Given the description of an element on the screen output the (x, y) to click on. 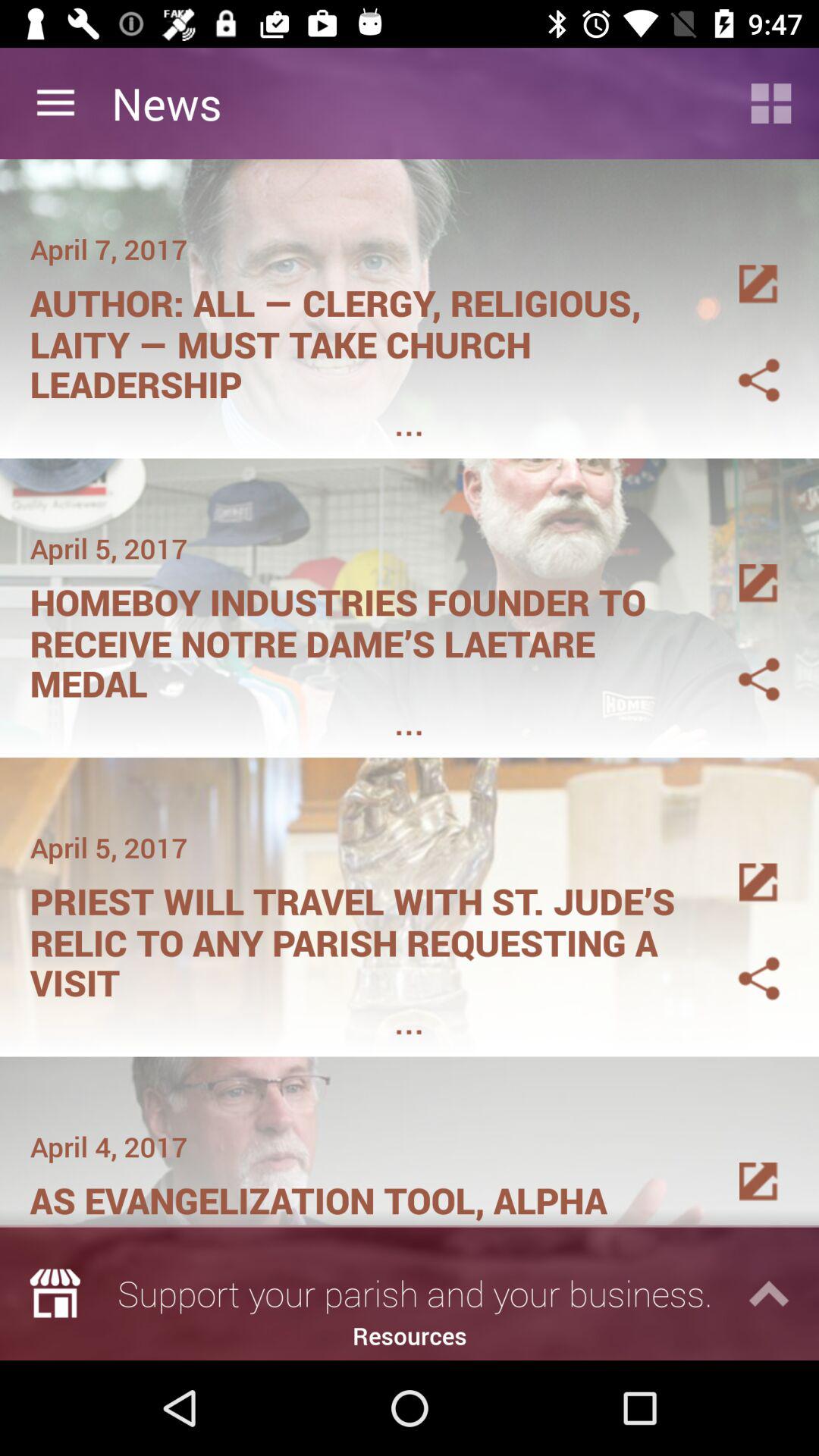
share this article (740, 362)
